Given the description of an element on the screen output the (x, y) to click on. 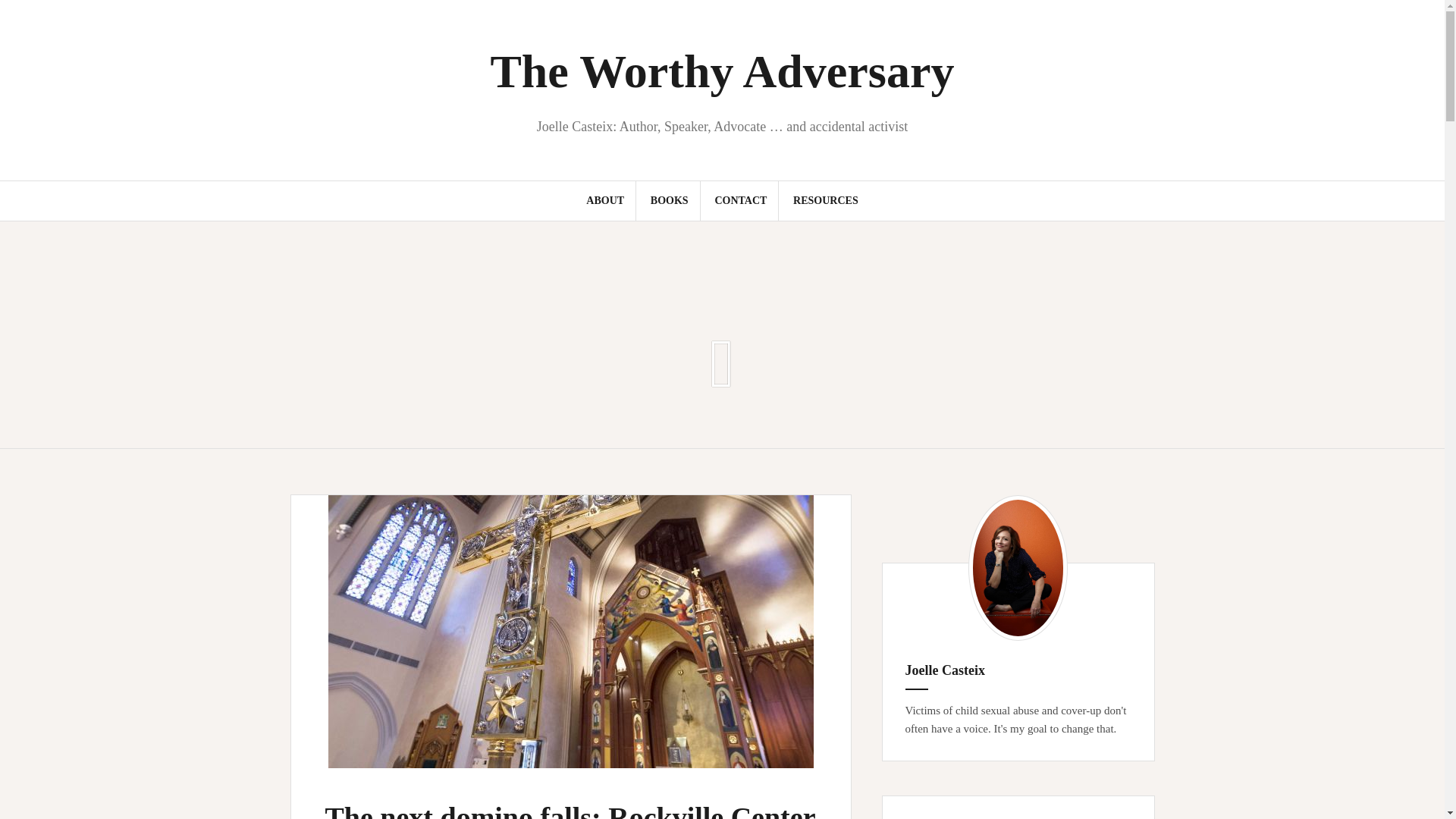
ABOUT (605, 200)
RESOURCES (826, 200)
BOOKS (669, 200)
CONTACT (740, 200)
The Worthy Adversary (721, 71)
